Given the description of an element on the screen output the (x, y) to click on. 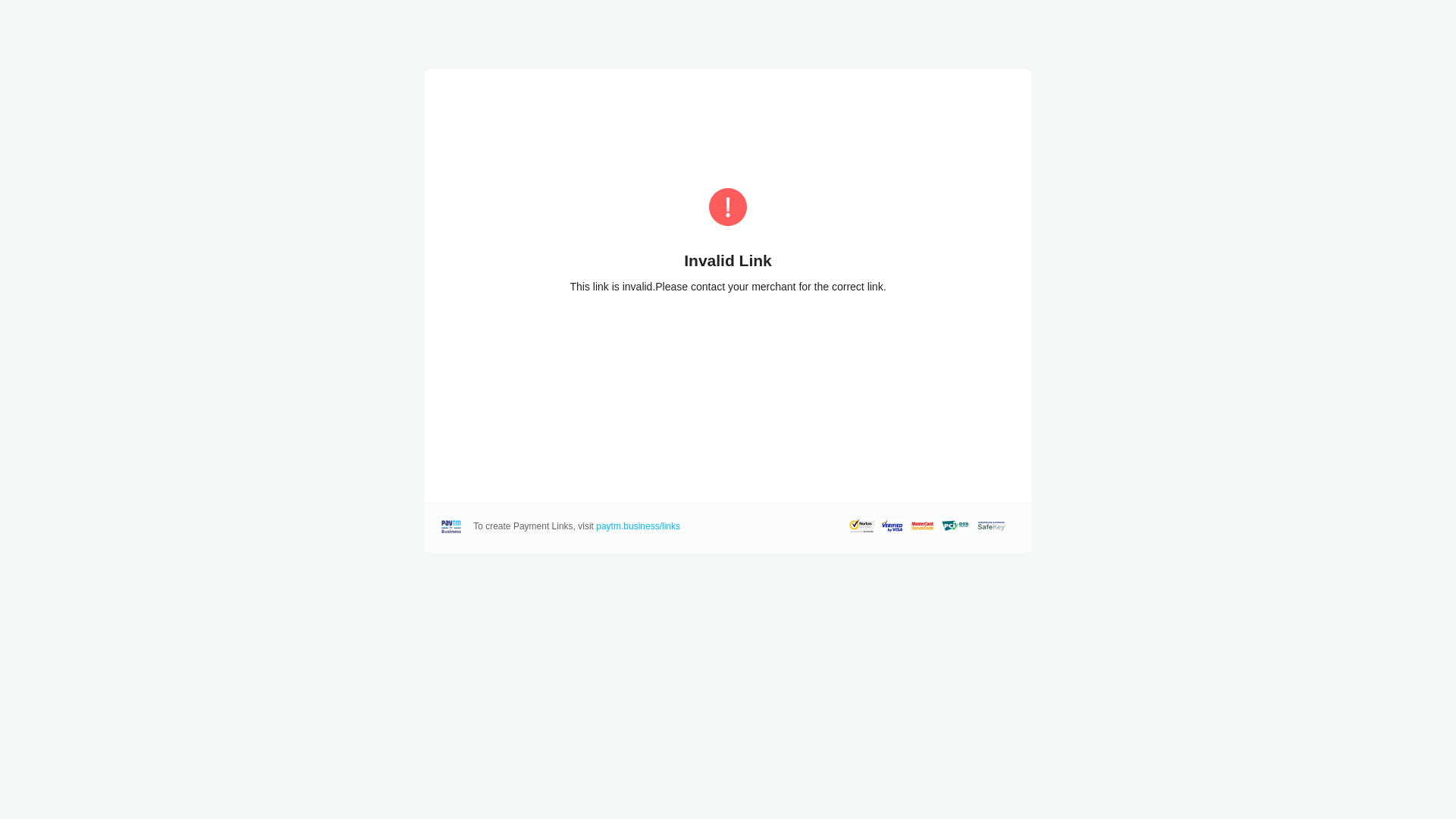
paytm.business/links Element type: text (638, 525)
